Given the description of an element on the screen output the (x, y) to click on. 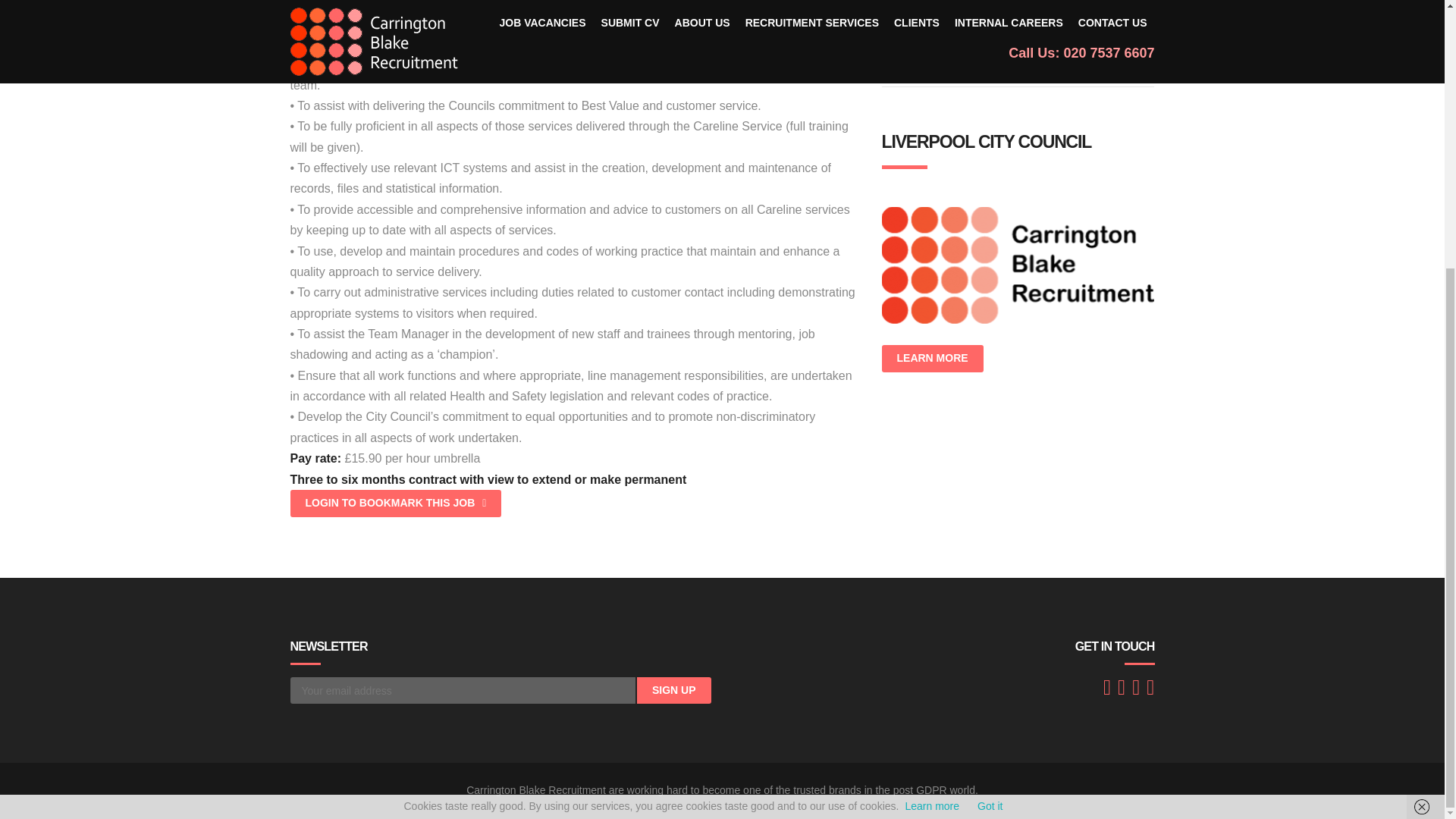
Sign up (674, 690)
Sign up (674, 690)
Click to share on Twitter (971, 20)
Click to share on LinkedIn (933, 20)
Click to share on Facebook (895, 20)
LOGIN TO BOOKMARK THIS JOB (394, 502)
LEARN MORE (931, 358)
